Given the description of an element on the screen output the (x, y) to click on. 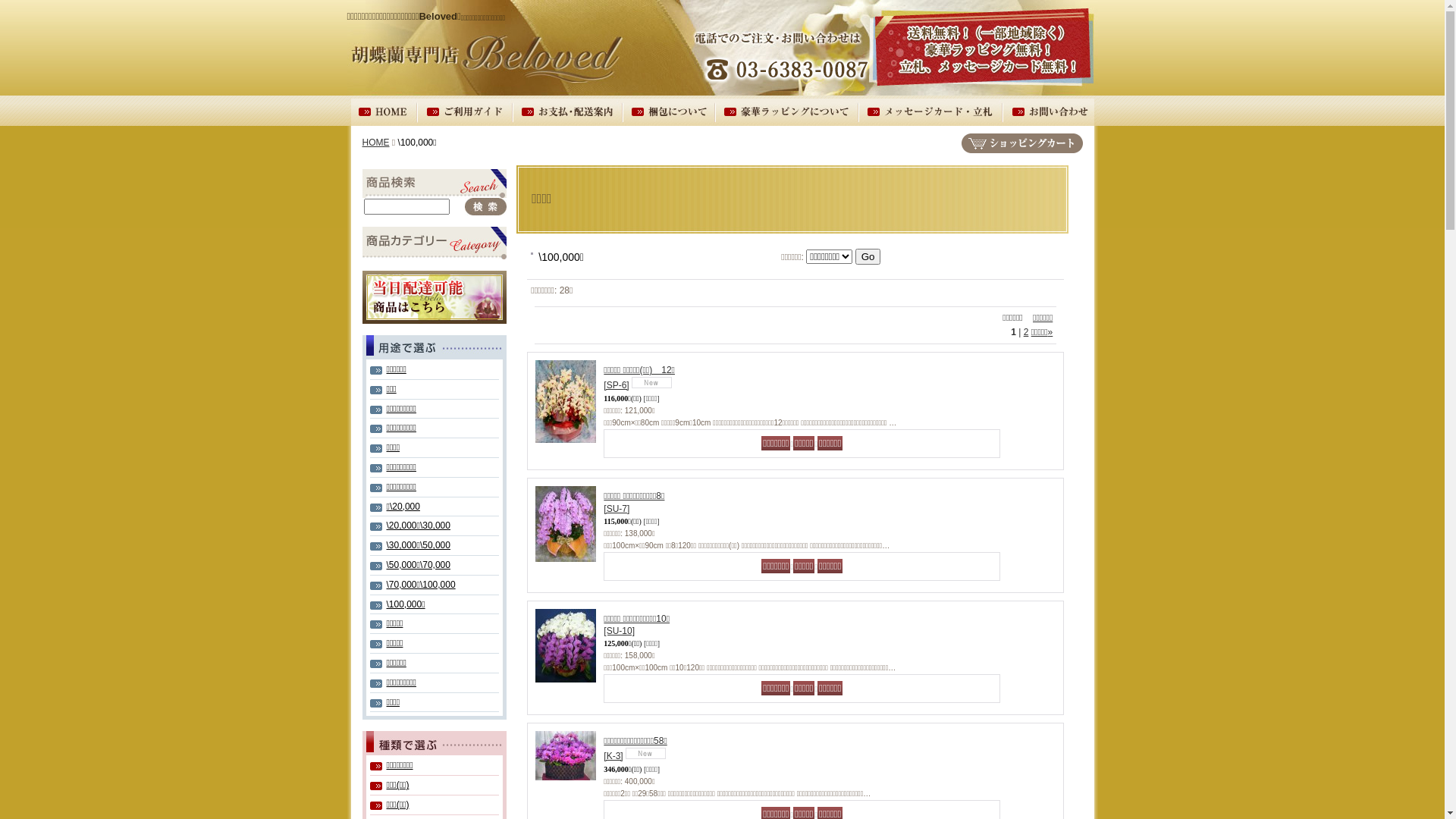
HOME Element type: text (375, 142)
Go Element type: text (868, 256)
2 Element type: text (1026, 331)
